Given the description of an element on the screen output the (x, y) to click on. 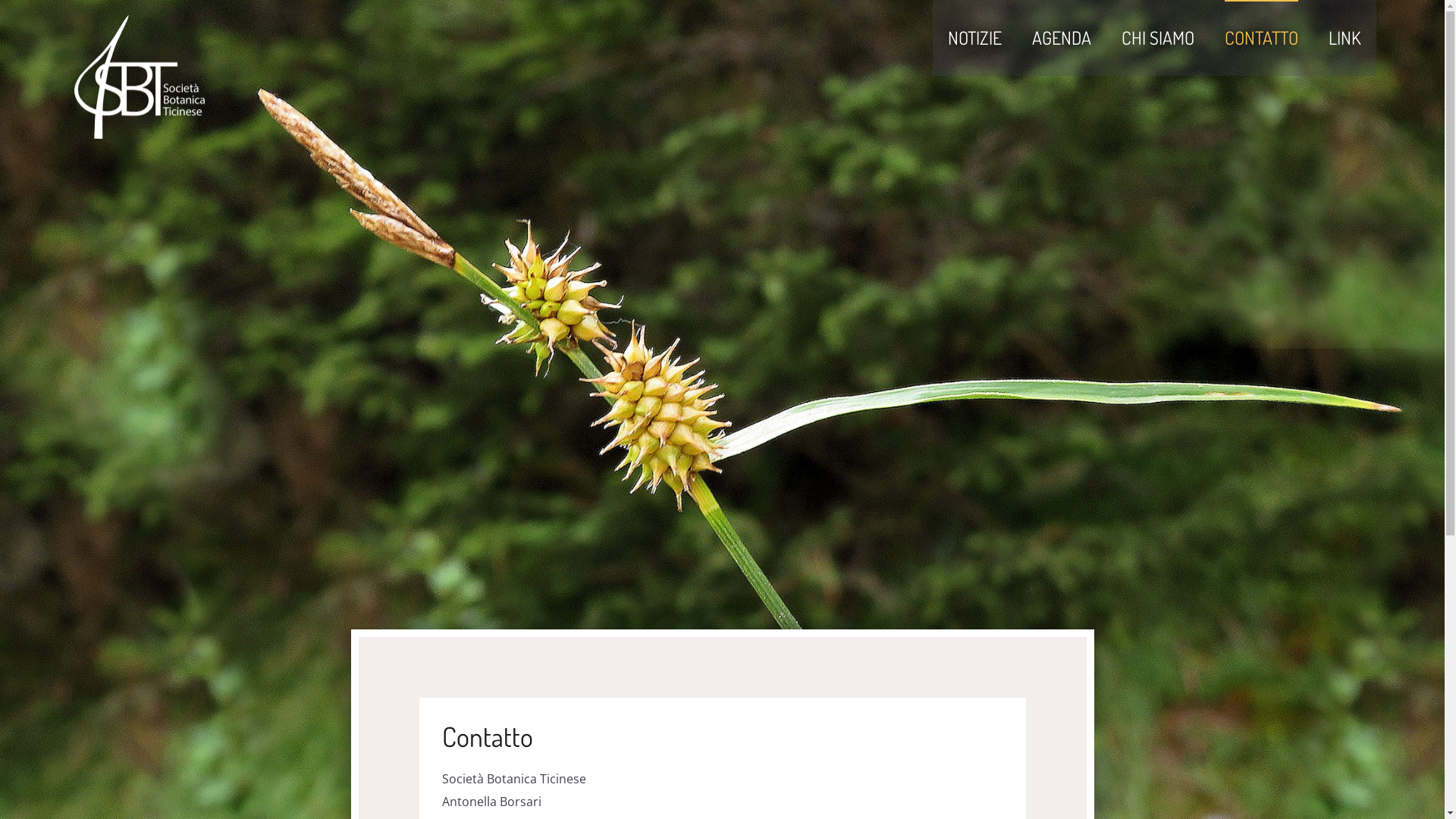
LINK Element type: text (1344, 37)
NOTIZIE Element type: text (974, 37)
CONTATTO Element type: text (1261, 37)
AGENDA Element type: text (1061, 37)
CHI SIAMO Element type: text (1157, 37)
